Given the description of an element on the screen output the (x, y) to click on. 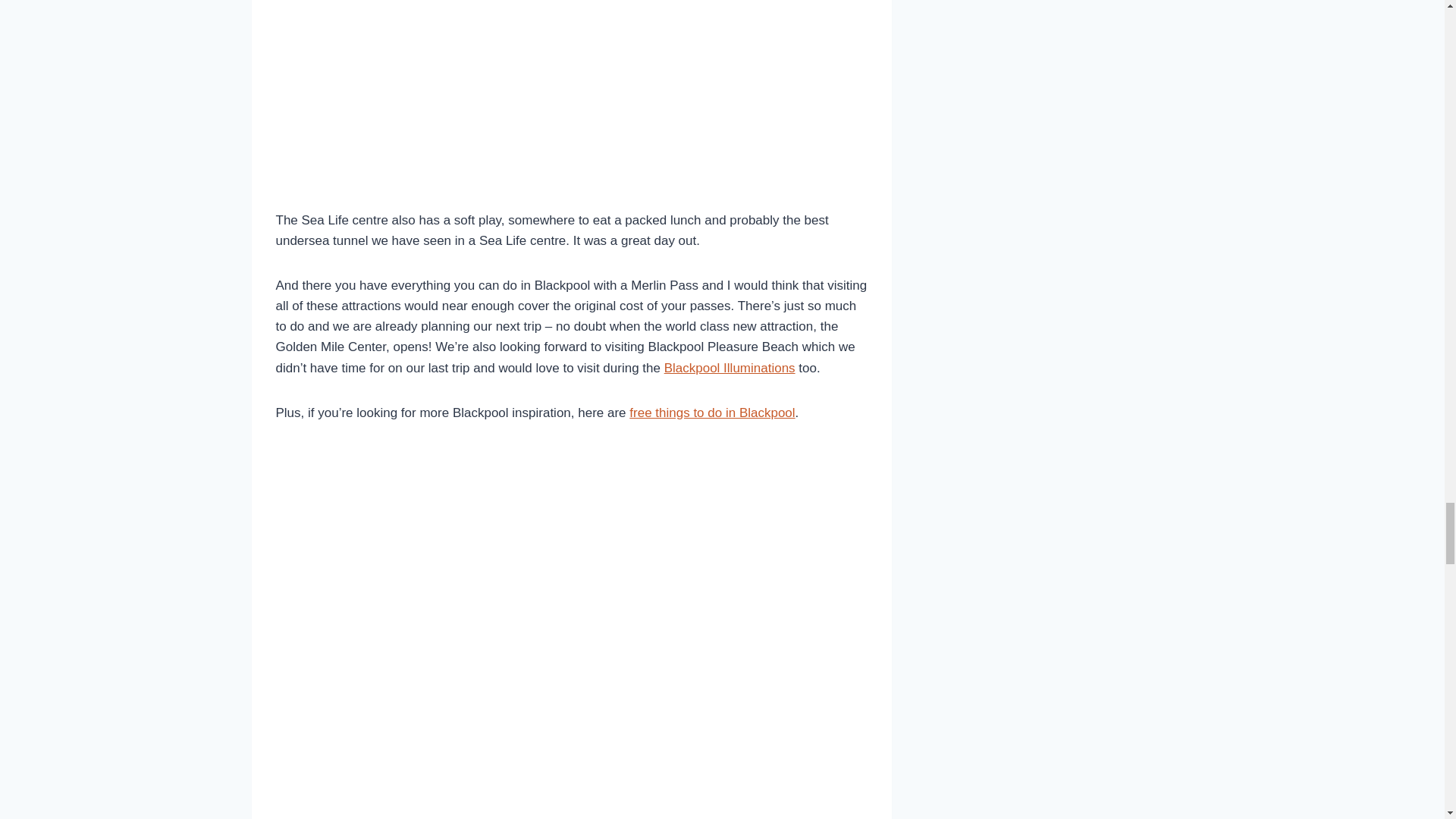
free things to do in Blackpool (711, 412)
Blackpool Illuminations (728, 368)
